Given the description of an element on the screen output the (x, y) to click on. 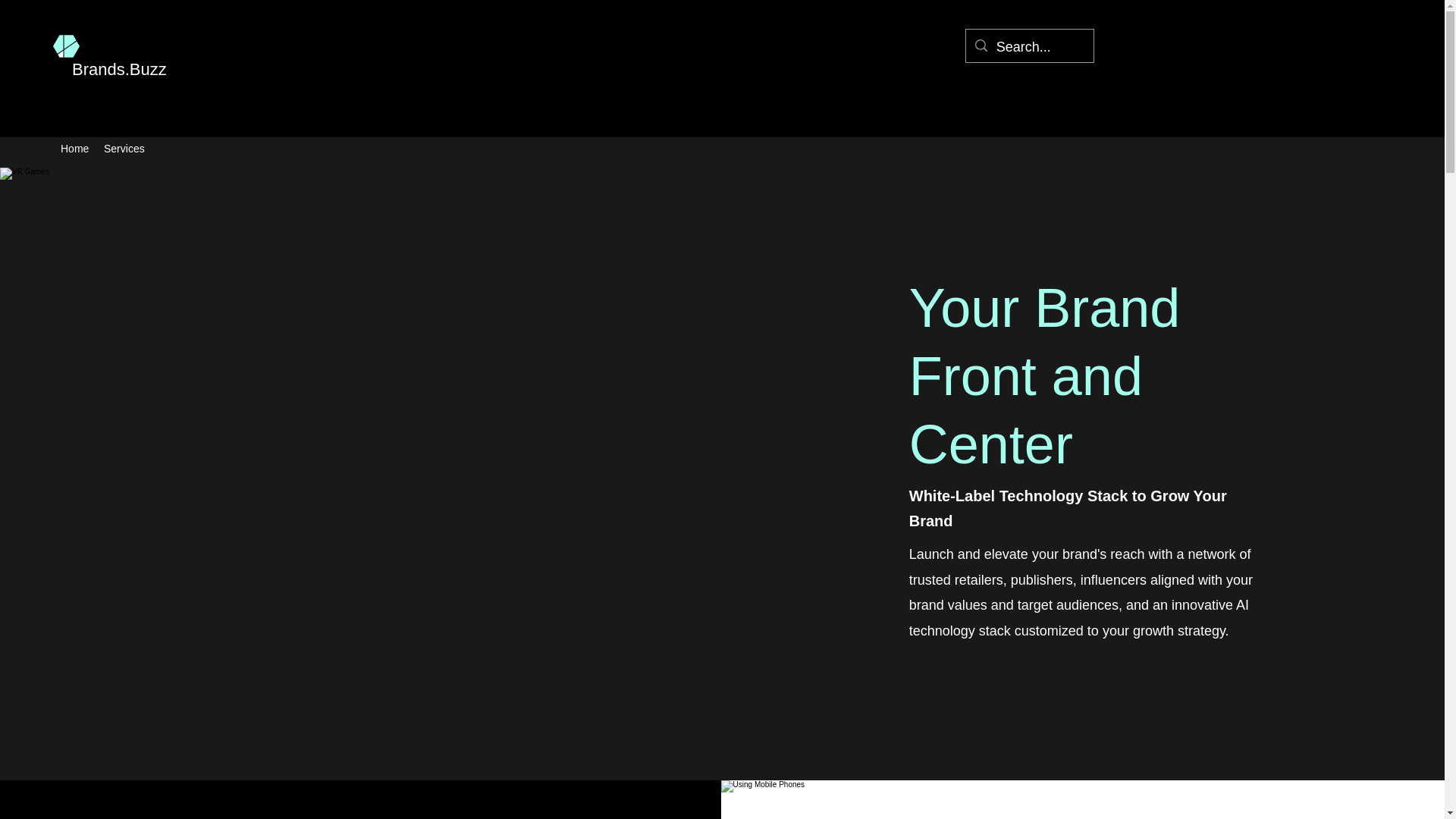
Home Element type: text (74, 148)
Services Element type: text (124, 148)
